Given the description of an element on the screen output the (x, y) to click on. 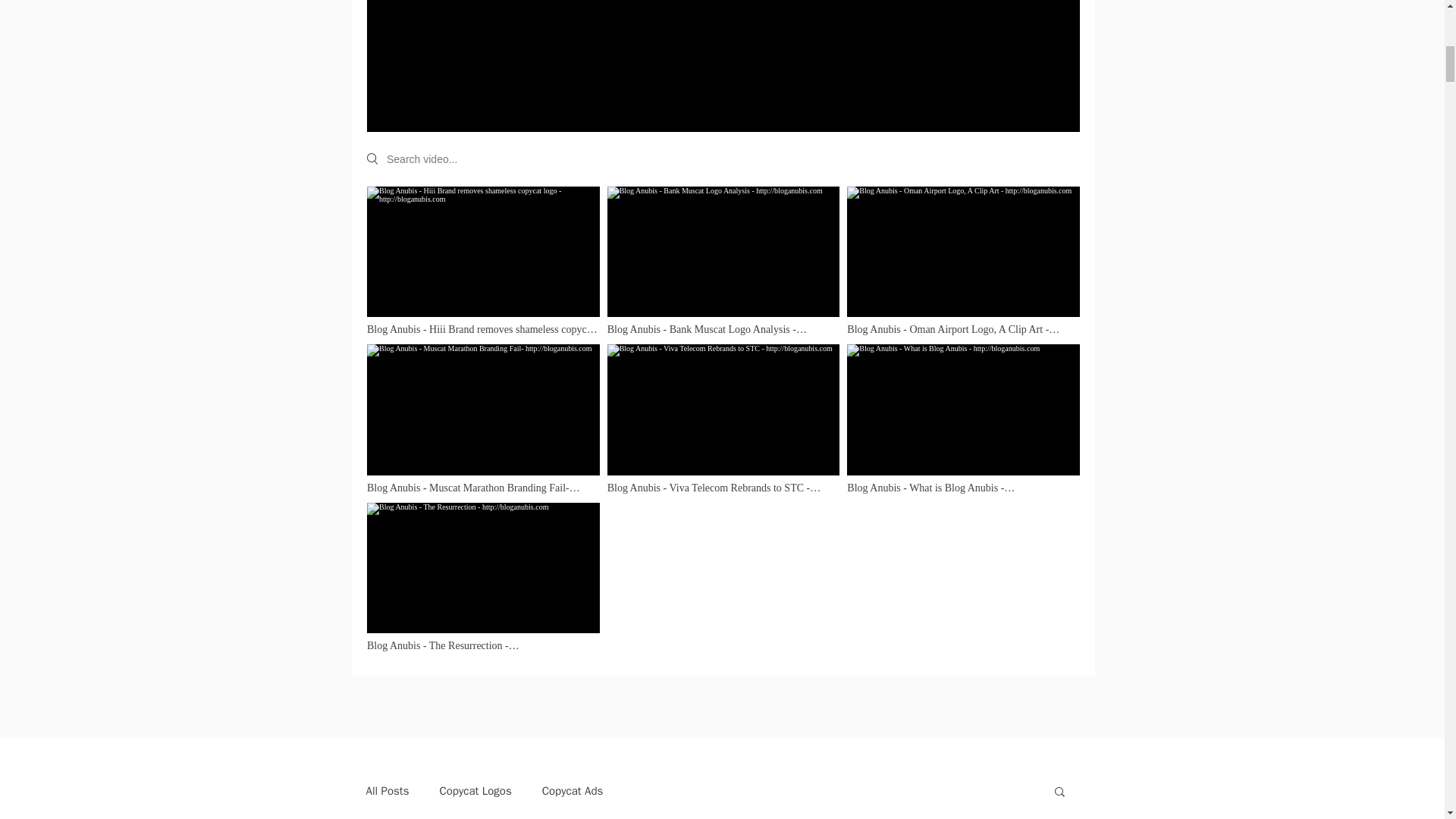
All Posts (387, 790)
Copycat Logos (475, 790)
Copycat Ads (572, 790)
